Given the description of an element on the screen output the (x, y) to click on. 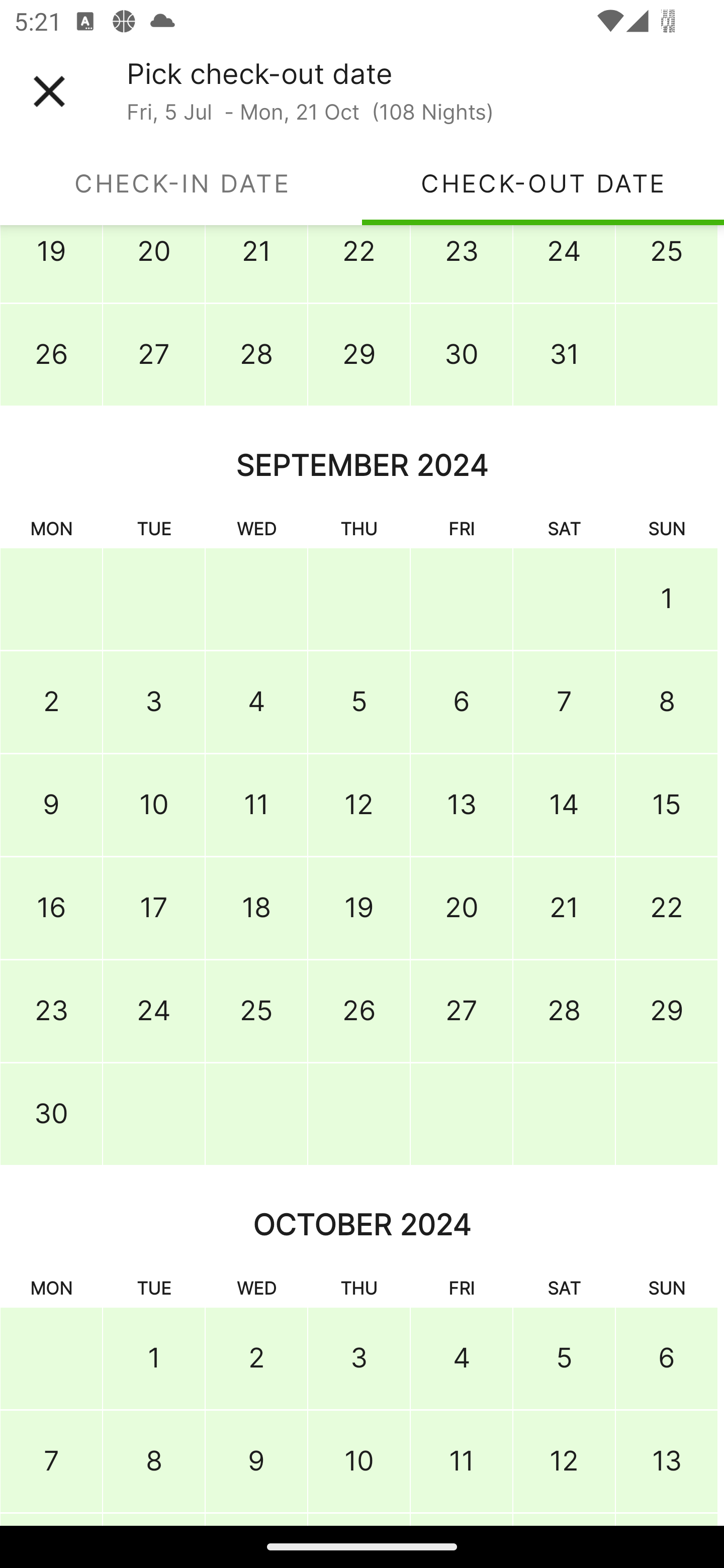
Check-in Date CHECK-IN DATE (181, 183)
